Given the description of an element on the screen output the (x, y) to click on. 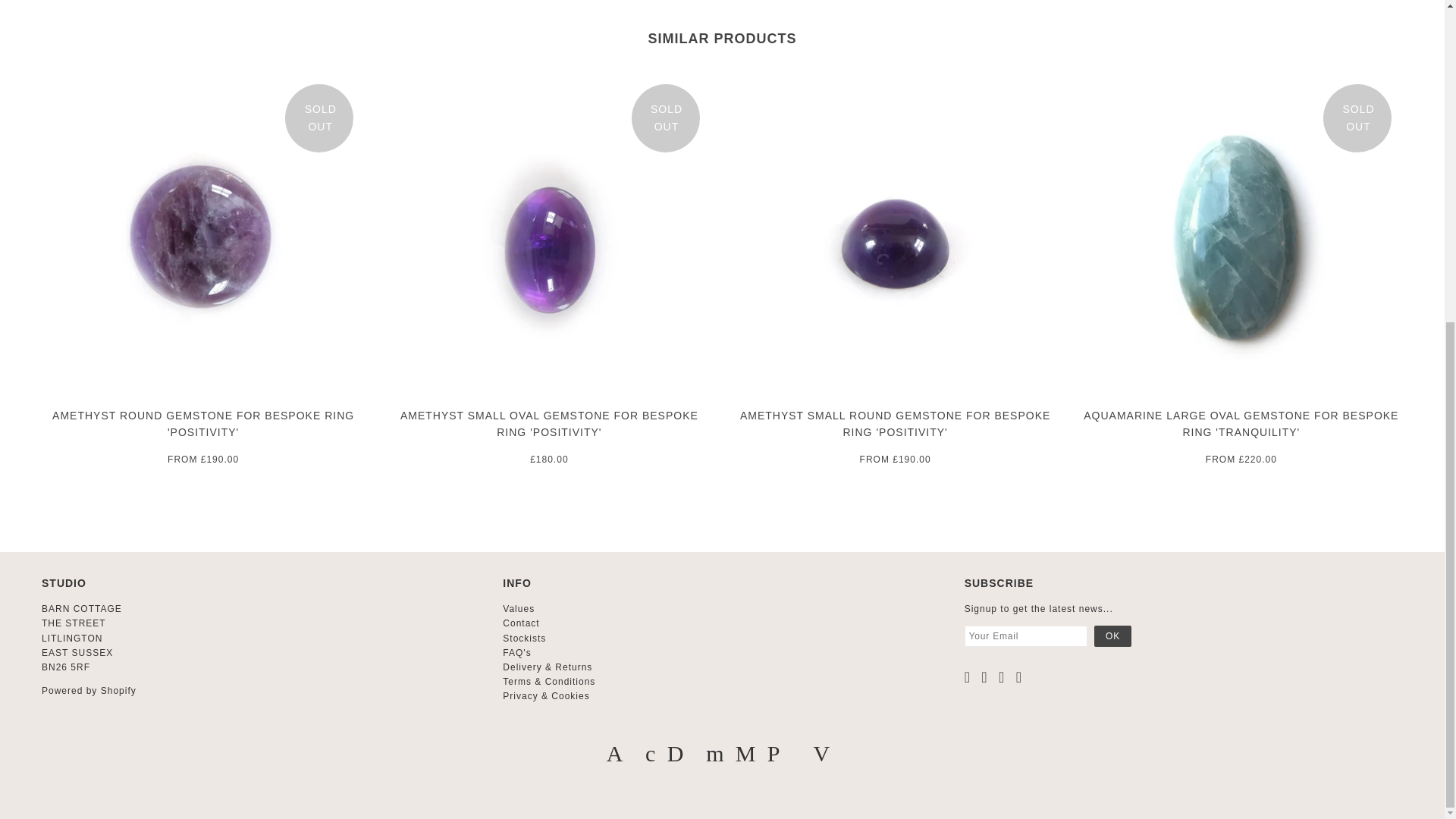
Values (518, 608)
Stockists (524, 638)
FAQ's (516, 652)
OK (1112, 636)
Contact (520, 623)
